Given the description of an element on the screen output the (x, y) to click on. 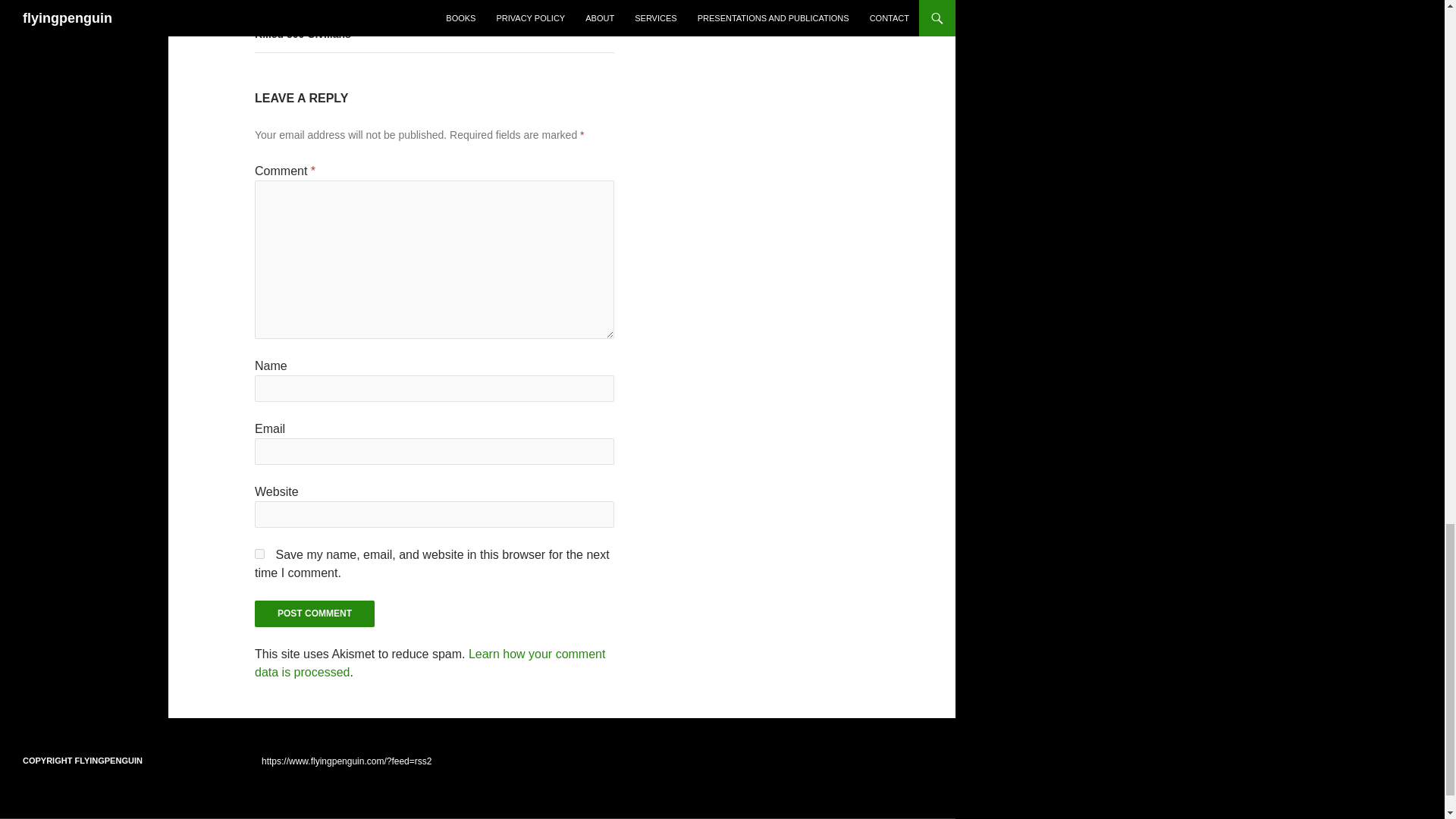
Post Comment (314, 613)
Post Comment (314, 613)
yes (259, 553)
Learn how your comment data is processed (429, 662)
